Given the description of an element on the screen output the (x, y) to click on. 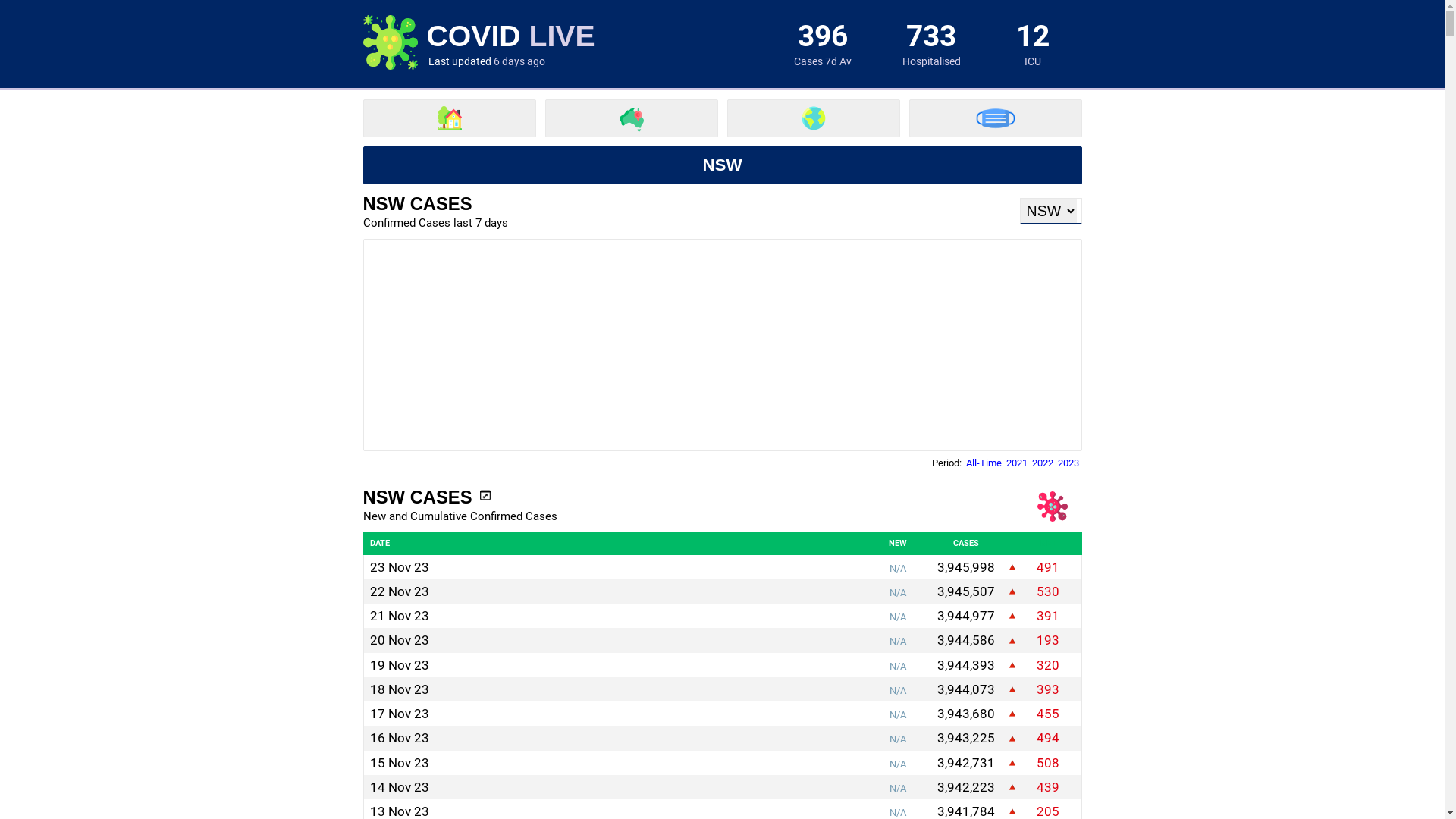
STATES Element type: text (630, 118)
2021 Element type: text (1015, 462)
18 Nov 23 Element type: text (399, 688)
19 Nov 23 Element type: text (399, 664)
All-Time Element type: text (983, 462)
20 Nov 23 Element type: text (399, 639)
NAV Element type: text (994, 118)
396 Element type: text (822, 35)
22 Nov 23 Element type: text (399, 591)
733 Element type: text (931, 35)
NEW Element type: text (897, 543)
NSW Element type: text (721, 164)
COVID LIVE Element type: text (510, 35)
15 Nov 23 Element type: text (399, 762)
23 Nov 23 Element type: text (399, 566)
DATE Element type: text (379, 543)
12 Element type: text (1032, 35)
WORLD Element type: text (812, 118)
6 days ago Element type: text (518, 61)
NSW CASES Element type: text (425, 496)
16 Nov 23 Element type: text (399, 737)
HOME Element type: text (448, 118)
17 Nov 23 Element type: text (399, 713)
2022 Element type: text (1041, 462)
21 Nov 23 Element type: text (399, 615)
2023 Element type: text (1067, 462)
14 Nov 23 Element type: text (399, 786)
